Given the description of an element on the screen output the (x, y) to click on. 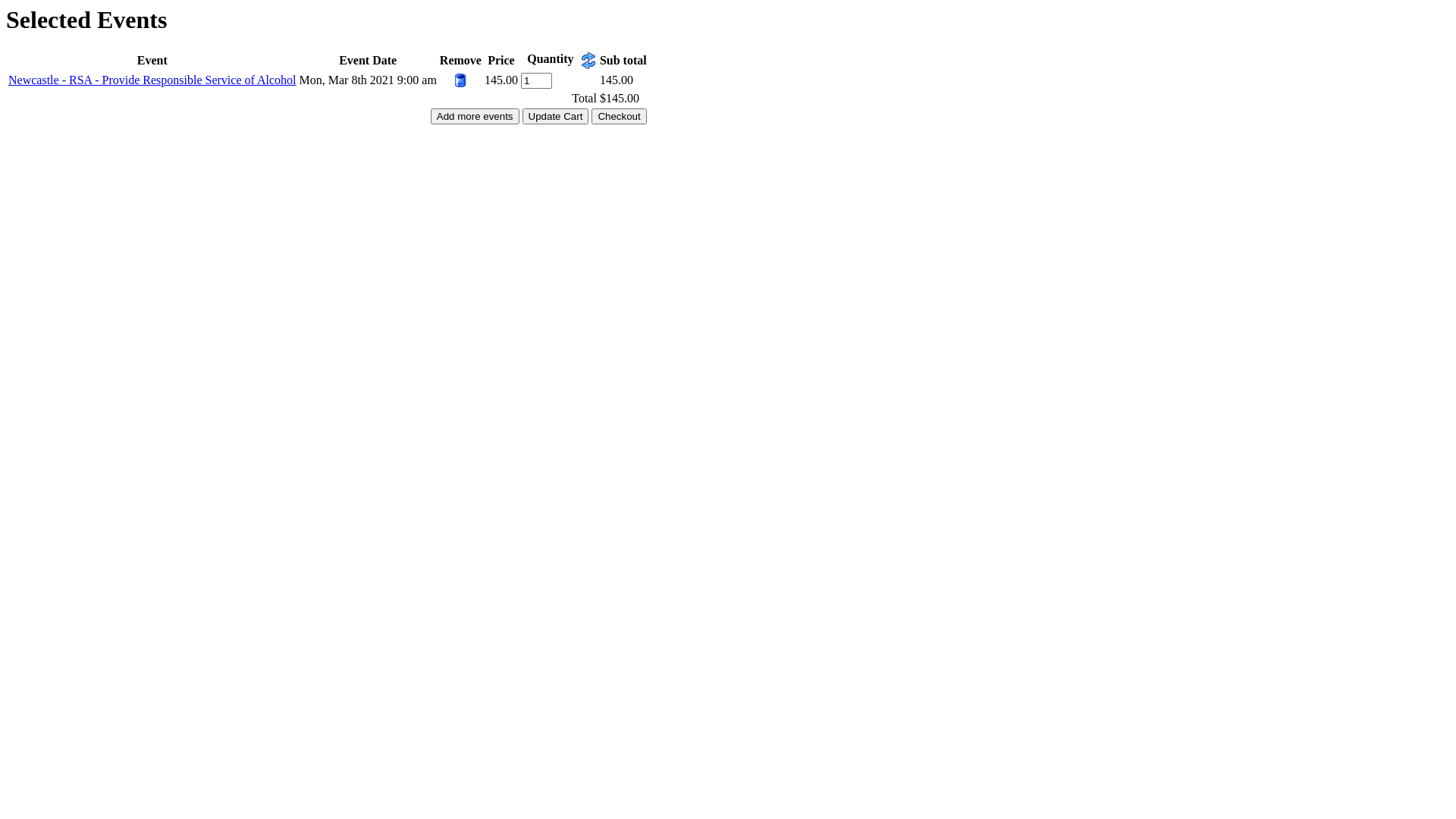
Update Cart Element type: text (555, 116)
Add more events Element type: text (474, 116)
Checkout Element type: text (618, 116)
Newcastle - RSA - Provide Responsible Service of Alcohol Element type: text (152, 79)
EB_UPDATE_QUANTITY Element type: hover (588, 60)
